Given the description of an element on the screen output the (x, y) to click on. 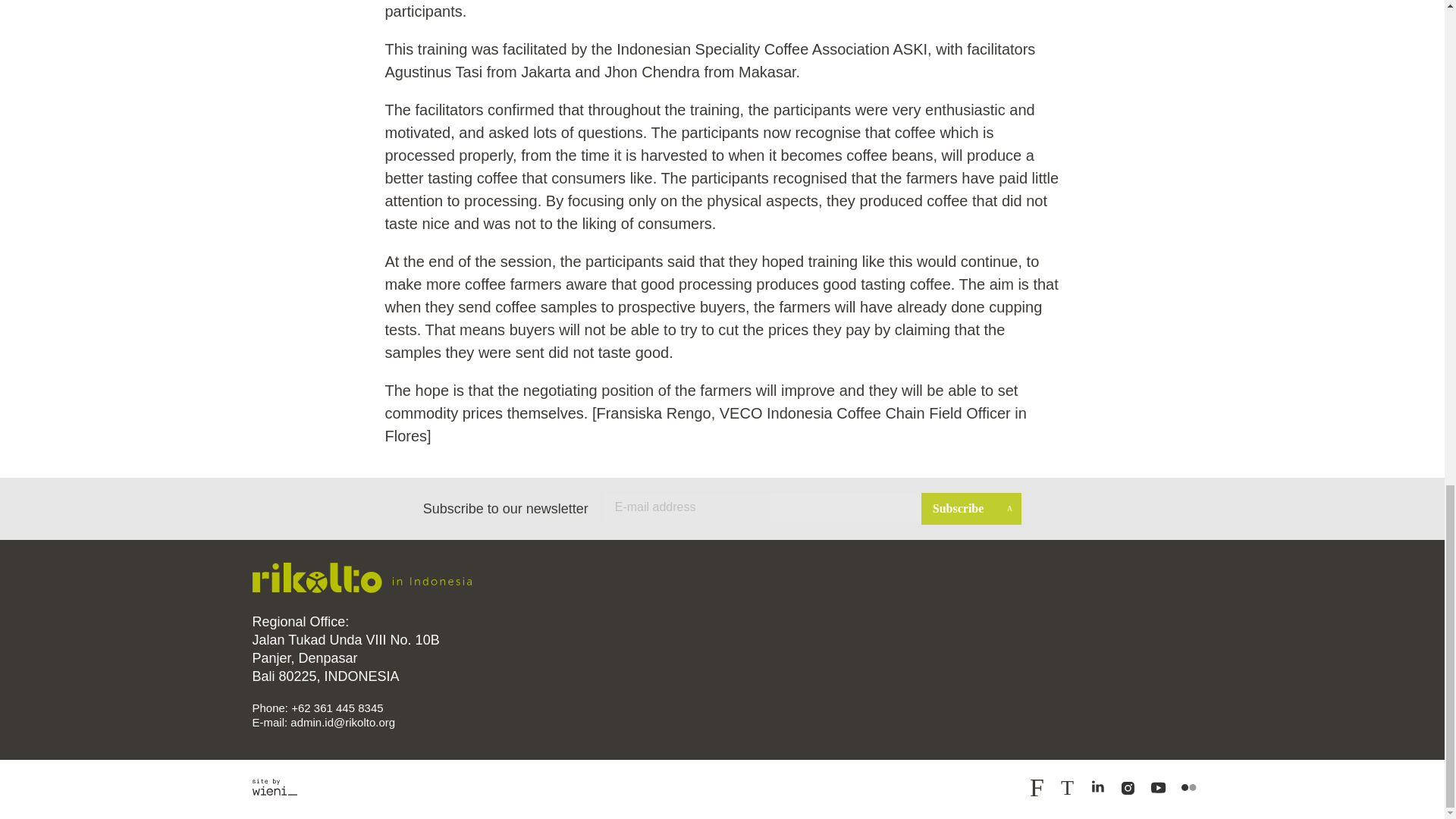
Wieni webt, ni wint (274, 786)
Subscribe (971, 508)
Subscribe (971, 508)
